Given the description of an element on the screen output the (x, y) to click on. 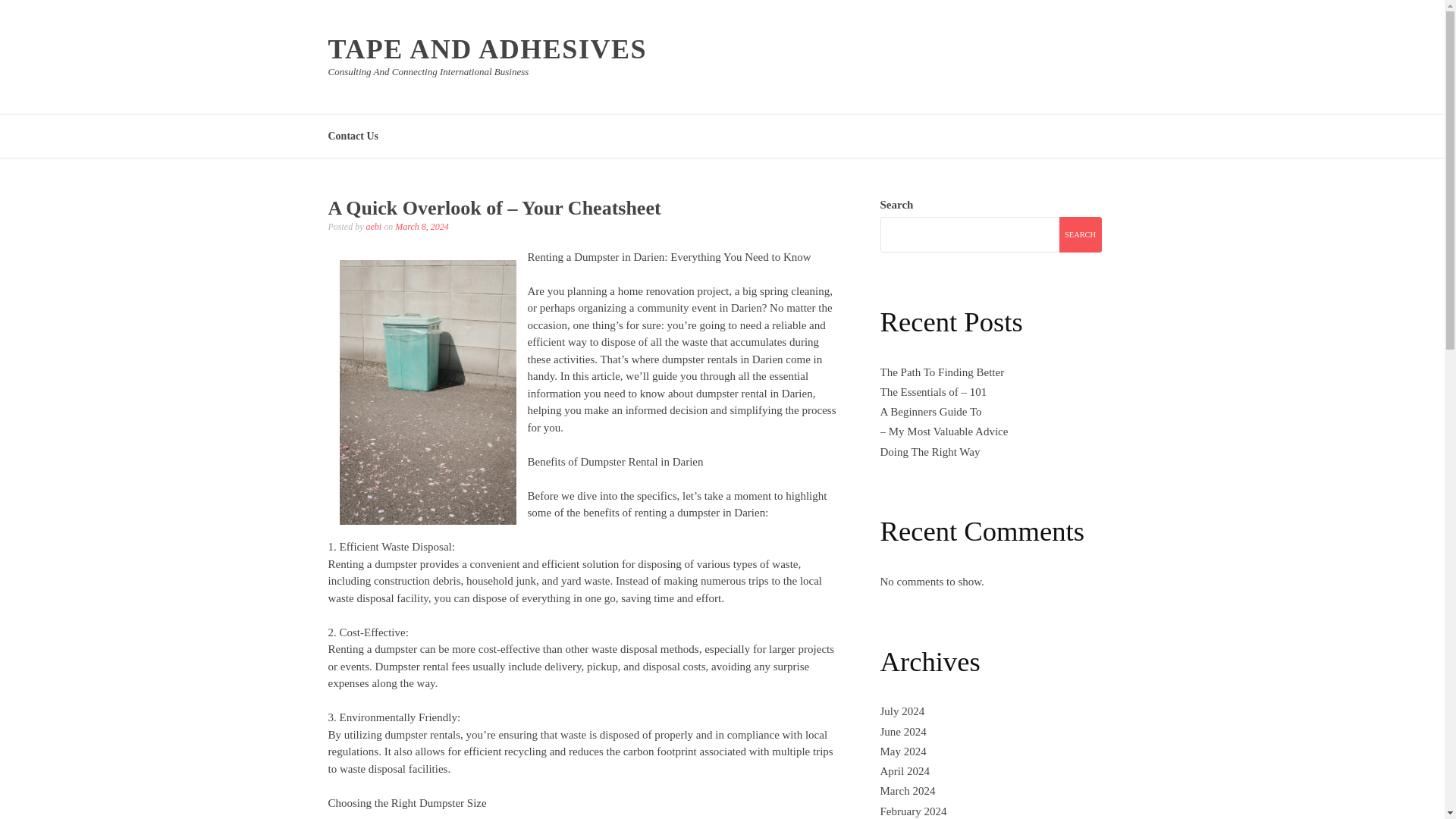
Doing The Right Way (929, 451)
TAPE AND ADHESIVES (486, 49)
aebi (373, 226)
The Path To Finding Better (941, 372)
June 2024 (902, 731)
March 8, 2024 (421, 226)
SEARCH (1079, 234)
Contact Us (352, 135)
July 2024 (901, 711)
May 2024 (902, 751)
March 2024 (906, 790)
April 2024 (903, 770)
A Beginners Guide To (930, 411)
February 2024 (912, 811)
